Given the description of an element on the screen output the (x, y) to click on. 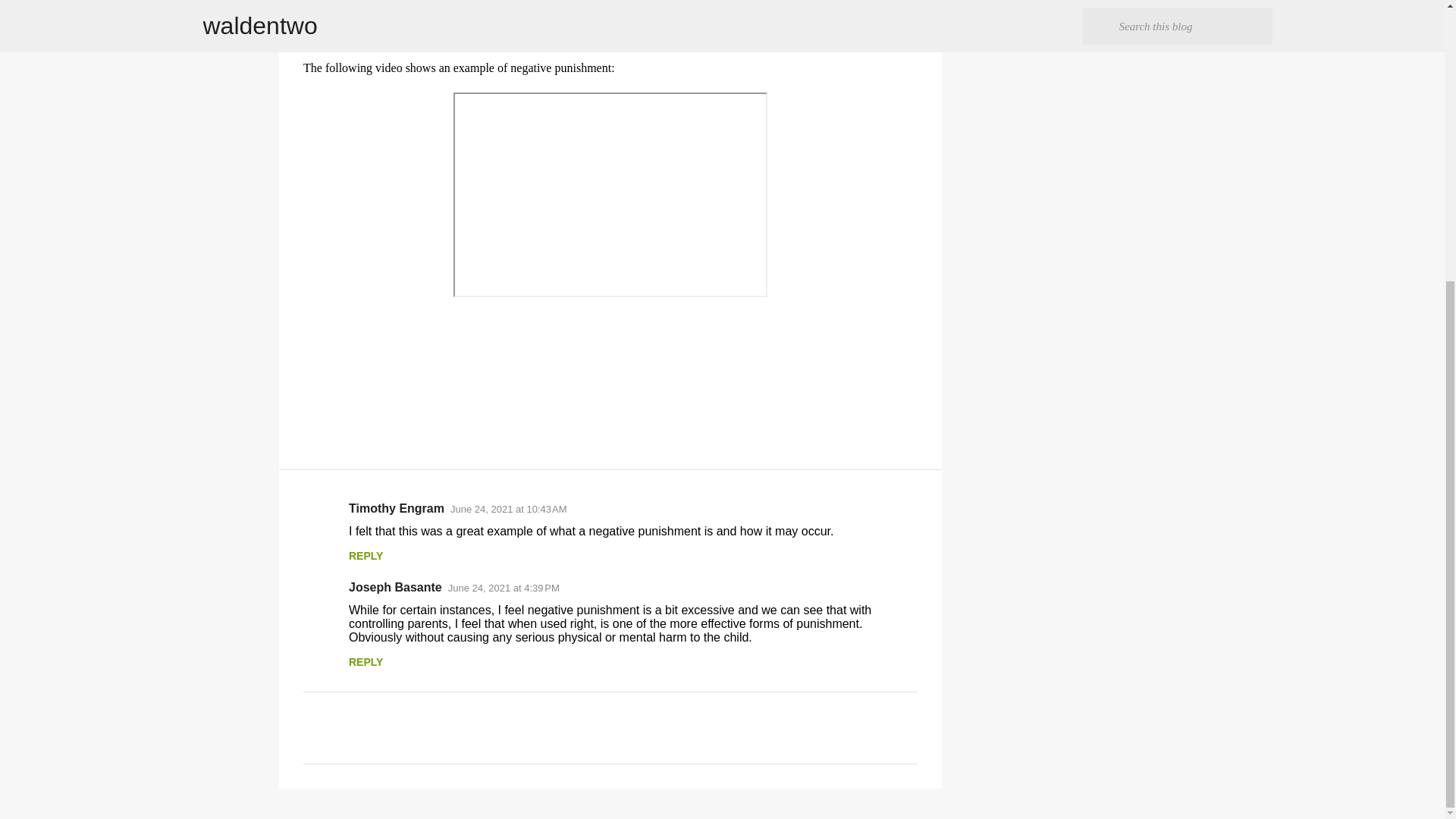
REPLY (365, 662)
Joseph Basante (395, 586)
REPLY (365, 555)
Timothy Engram (396, 508)
